Given the description of an element on the screen output the (x, y) to click on. 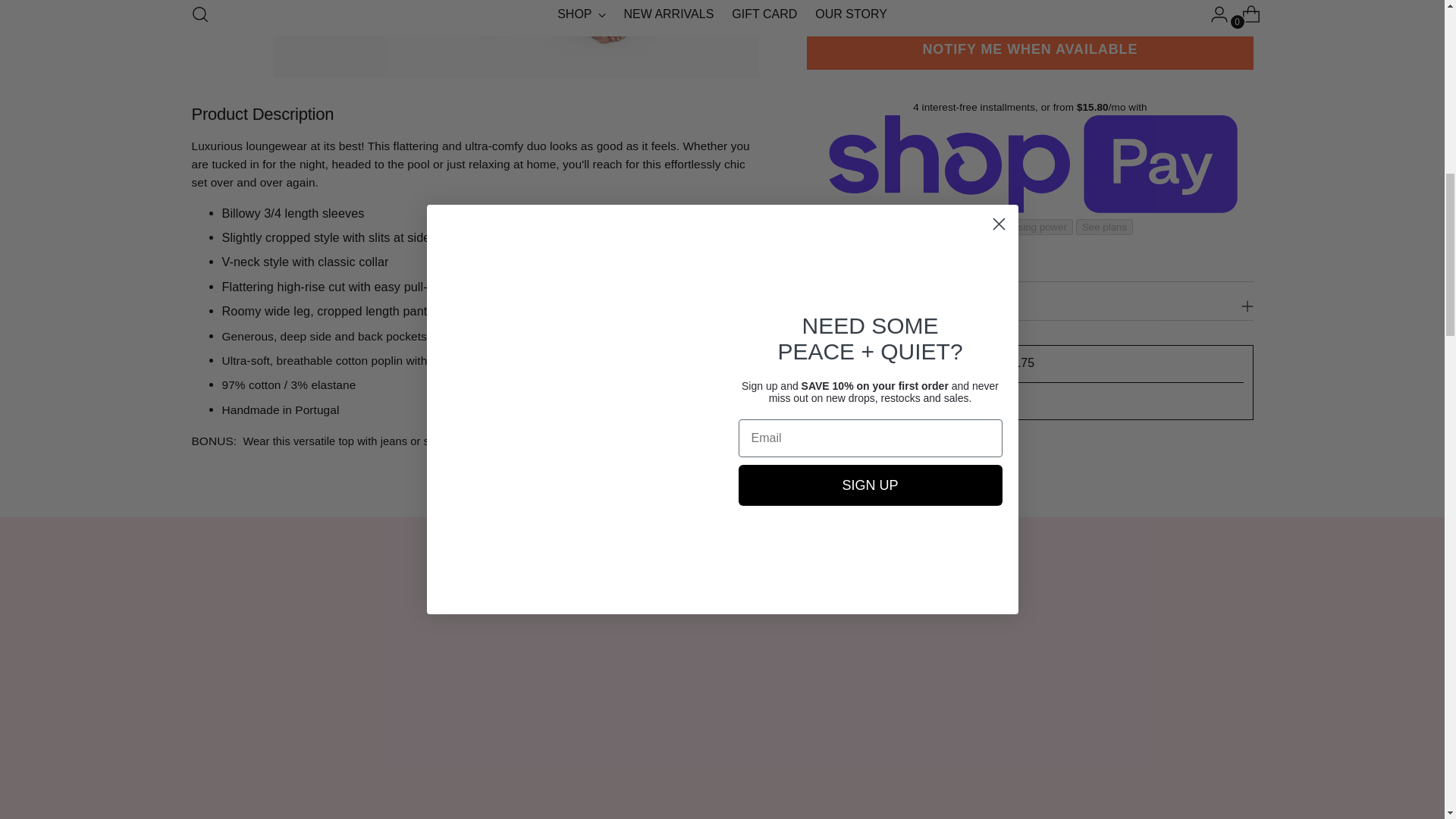
Contact (973, 226)
